Given the description of an element on the screen output the (x, y) to click on. 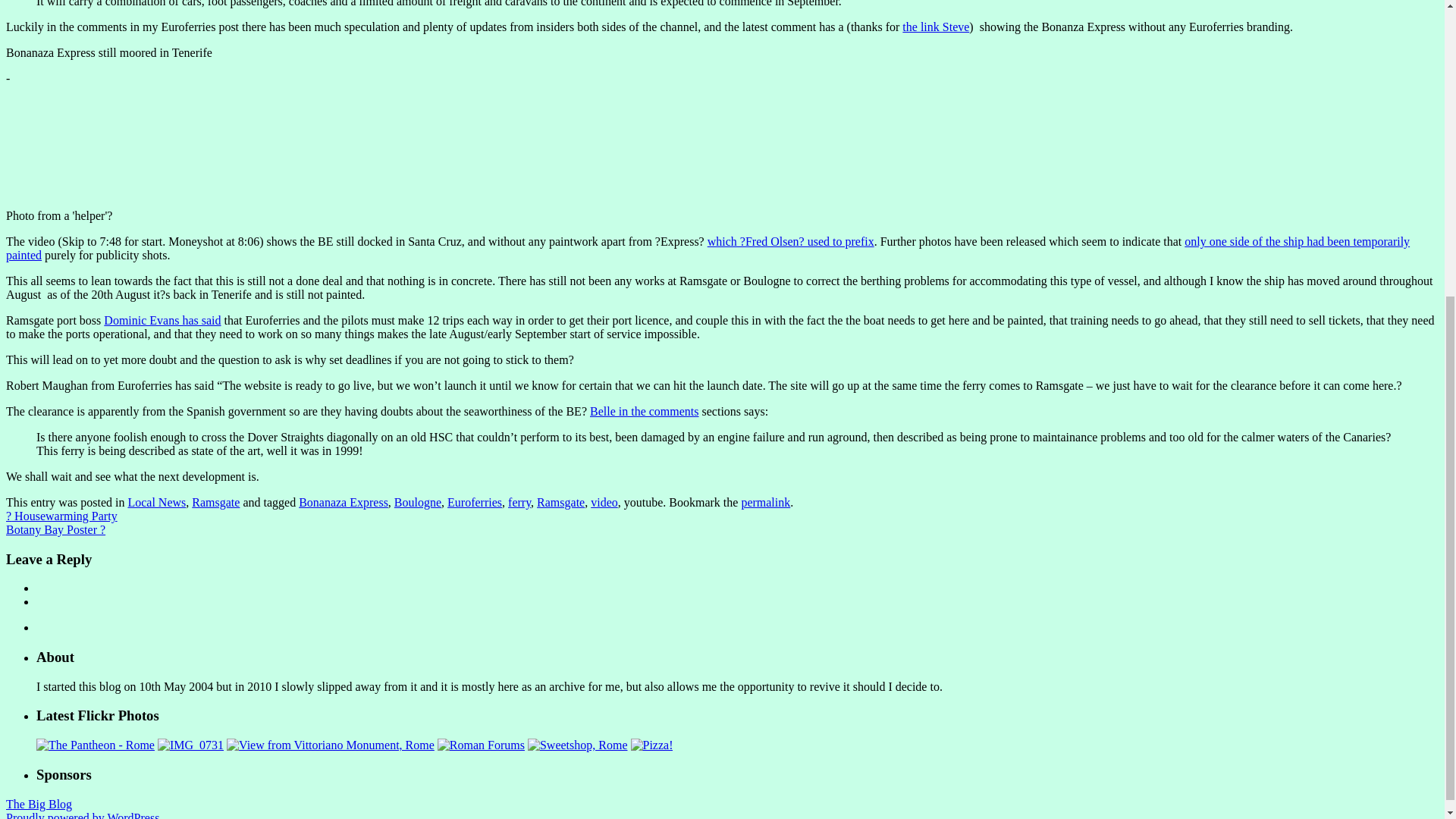
Boulogne (417, 502)
? Housewarming Party (61, 515)
the link Steve (935, 26)
Ramsgate (561, 502)
Belle in the comments (643, 410)
which ?Fred Olsen? used to prefix (791, 241)
Photo from a helper? (70, 145)
Bonanaza Express (343, 502)
Local News (157, 502)
ferry (519, 502)
